Given the description of an element on the screen output the (x, y) to click on. 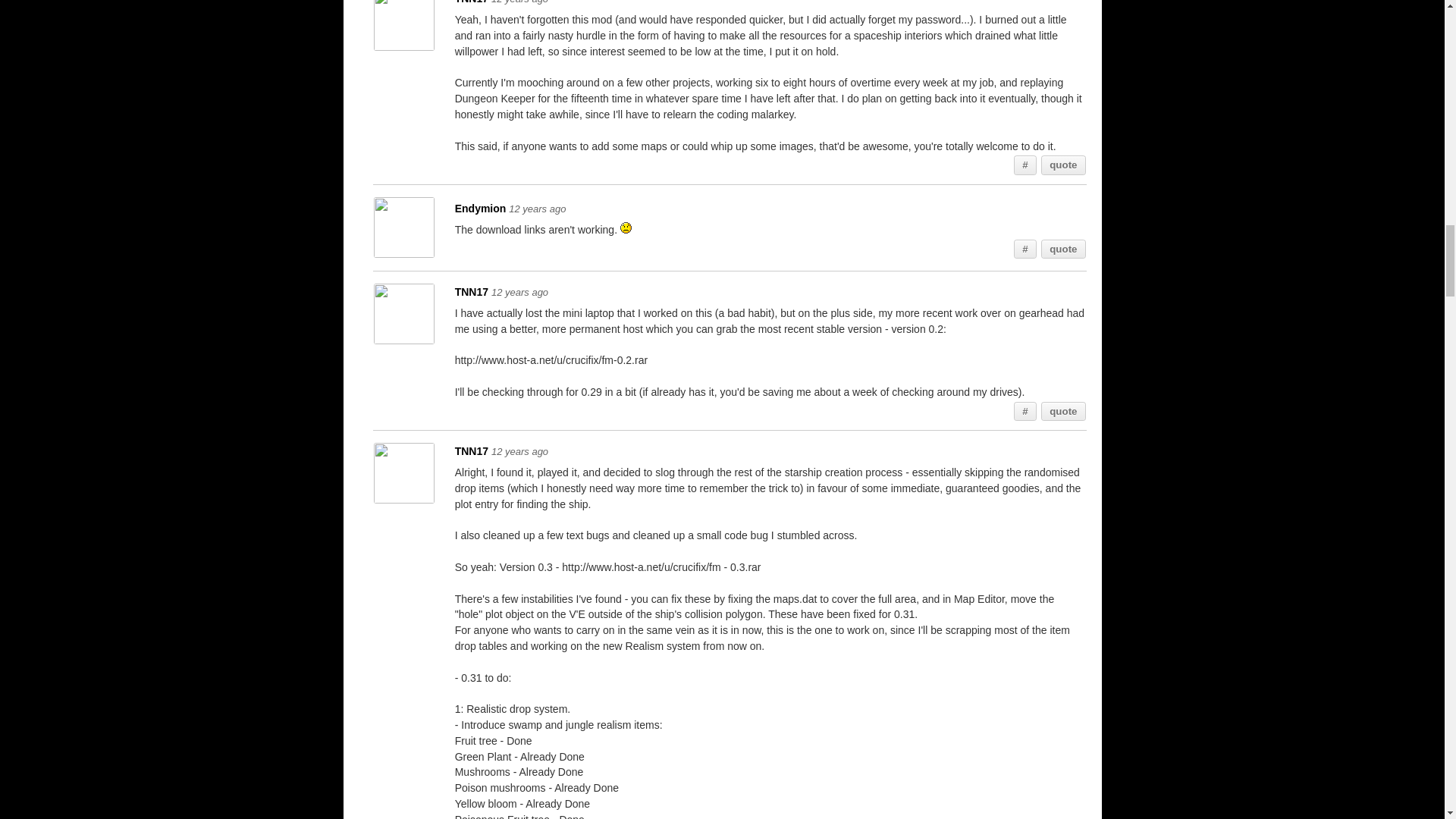
Link to this post (1024, 411)
Link to this post (1024, 165)
Link to this post (1024, 249)
